Given the description of an element on the screen output the (x, y) to click on. 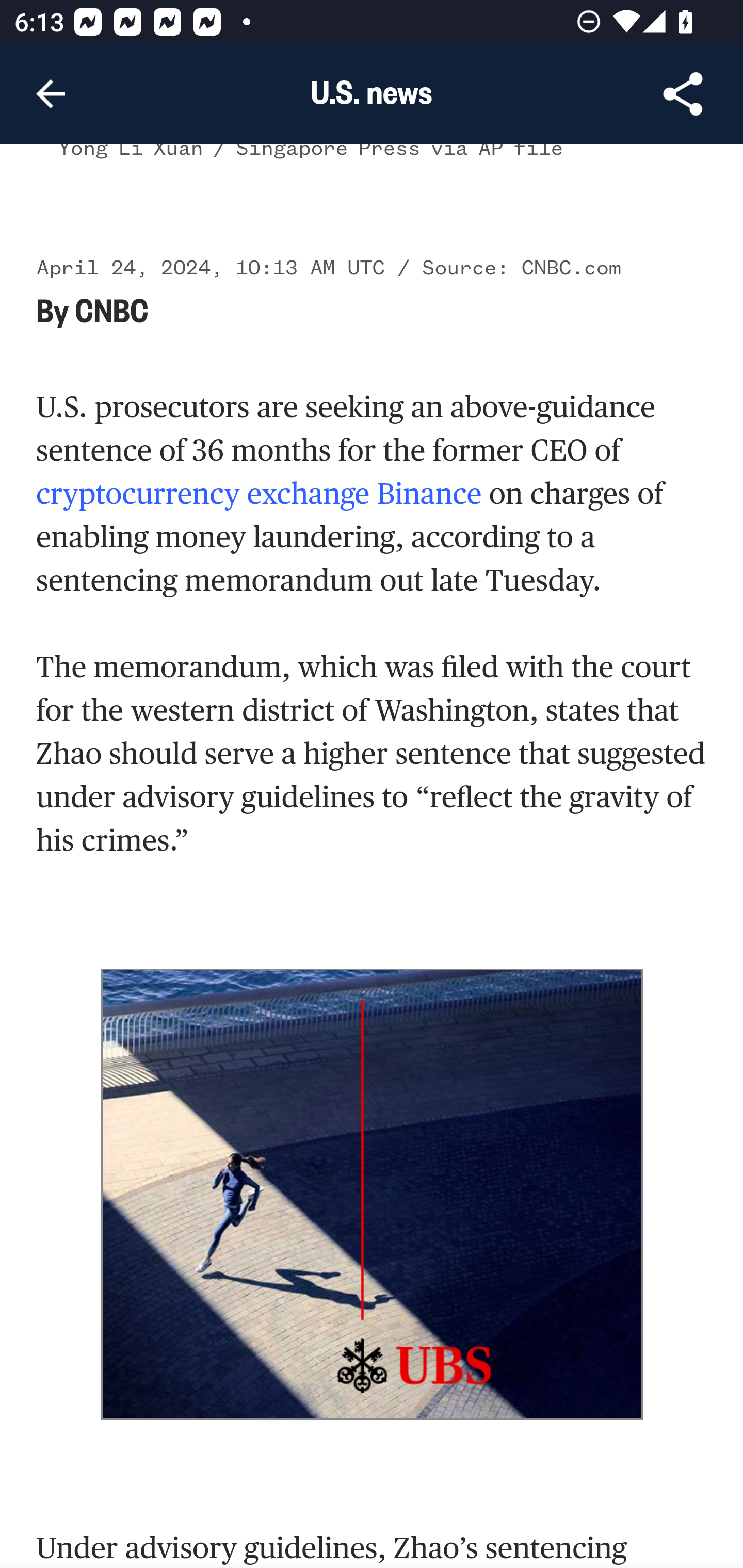
Navigate up (50, 93)
Share Article, button (683, 94)
cryptocurrency exchange Binance (259, 494)
